Given the description of an element on the screen output the (x, y) to click on. 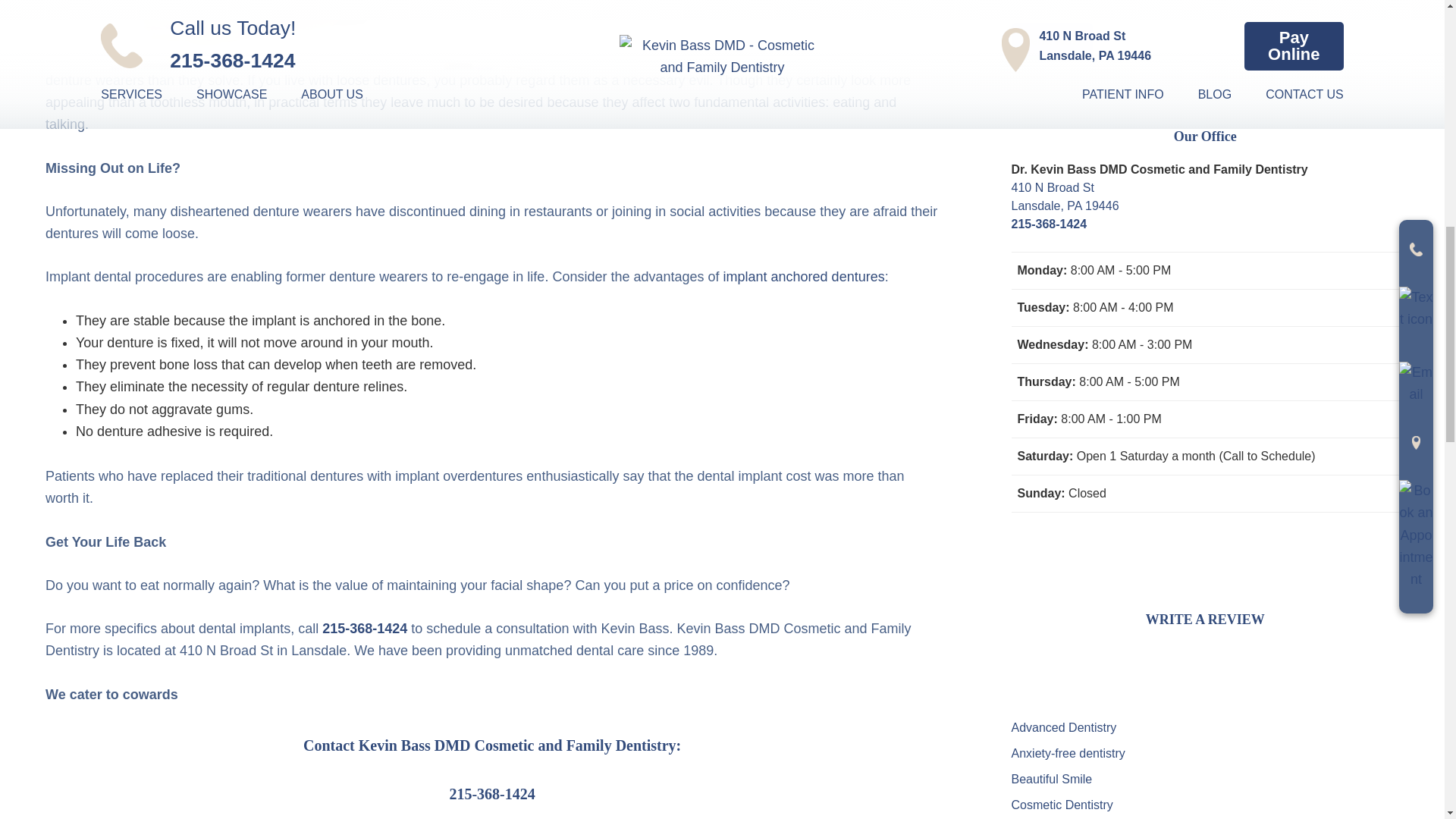
Send Now (1052, 40)
Lansdale loose dentures (381, 79)
